Given the description of an element on the screen output the (x, y) to click on. 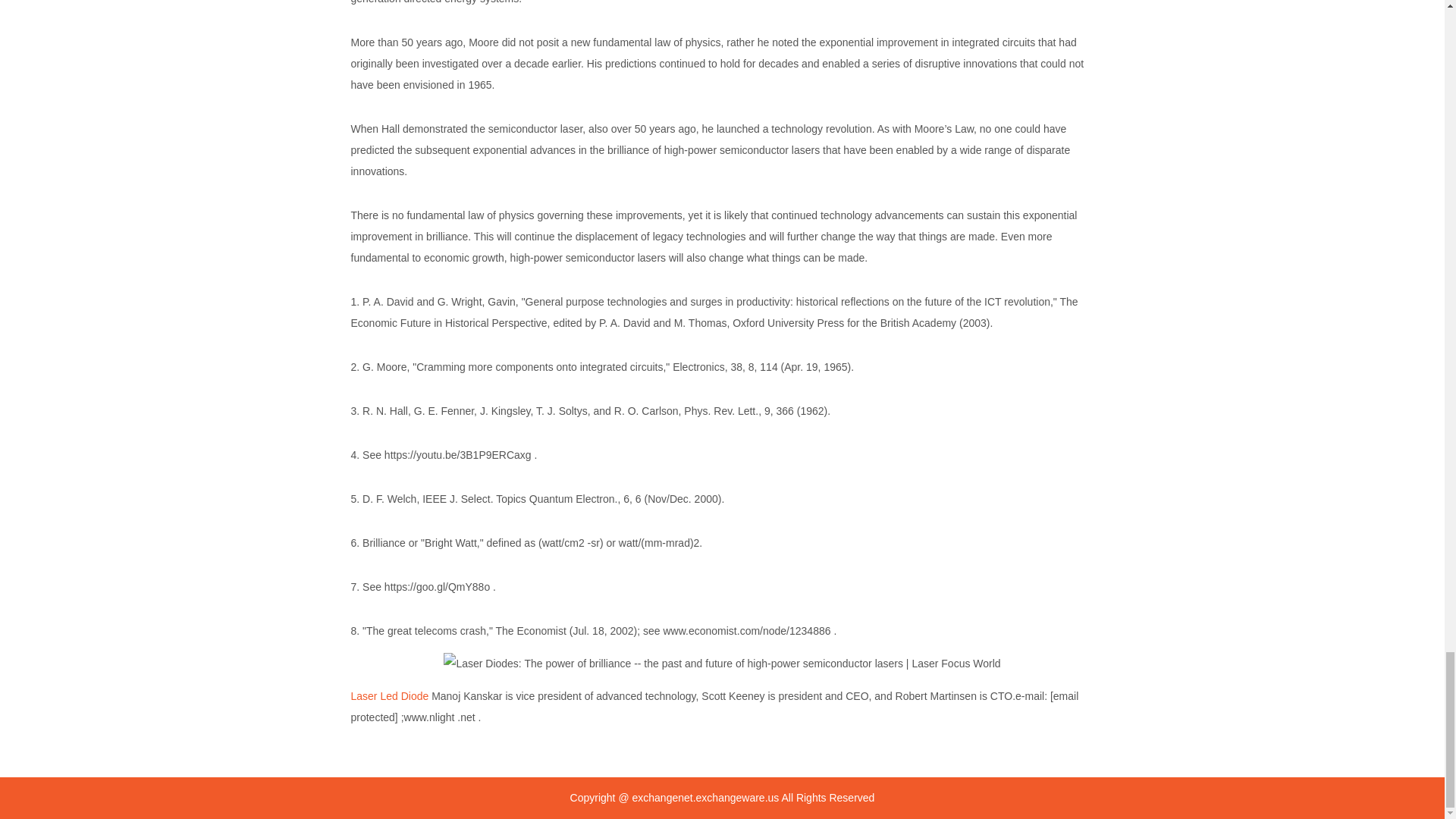
Laser Led Diode (389, 695)
